Given the description of an element on the screen output the (x, y) to click on. 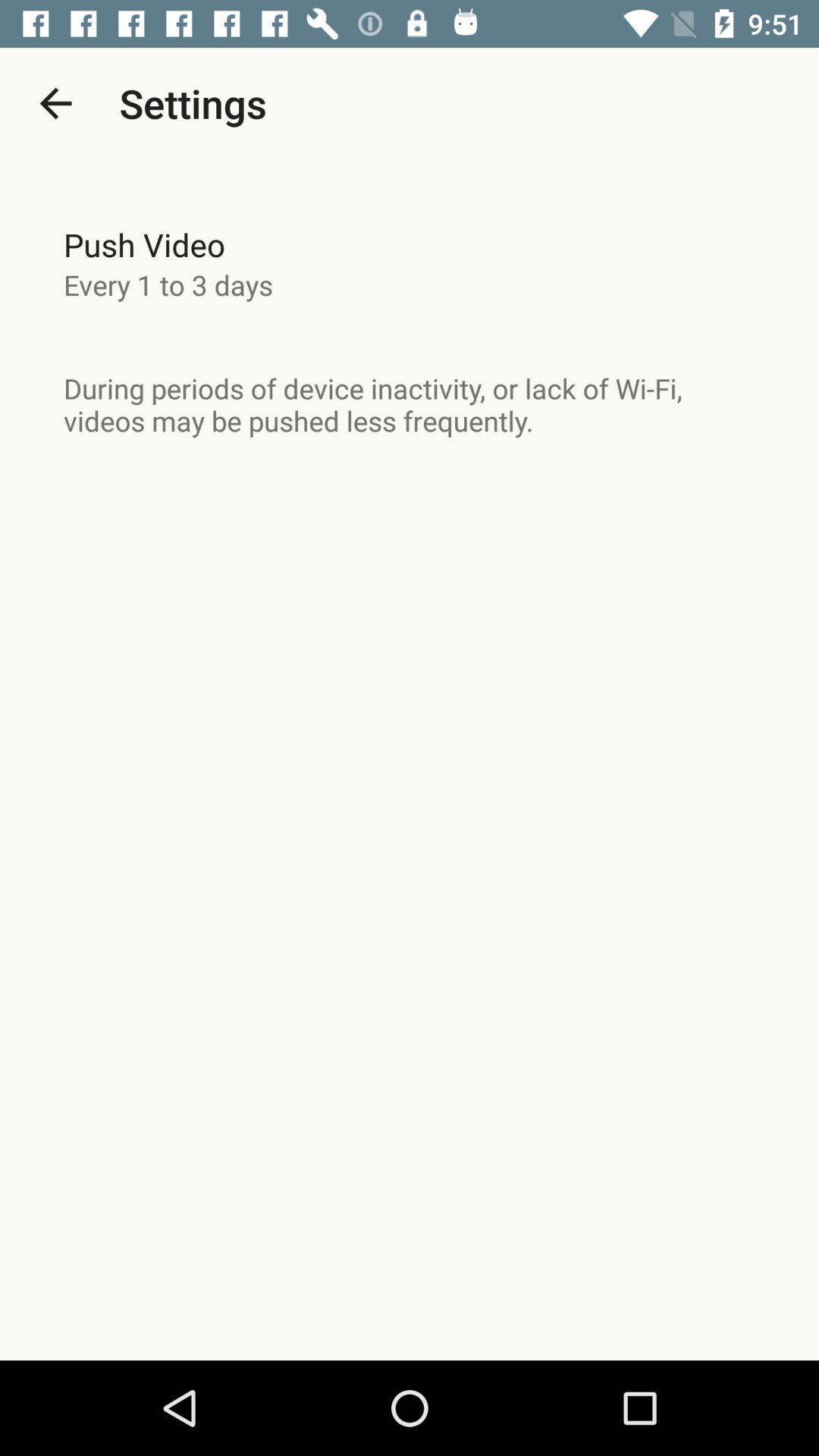
select the item below every 1 to item (409, 404)
